Given the description of an element on the screen output the (x, y) to click on. 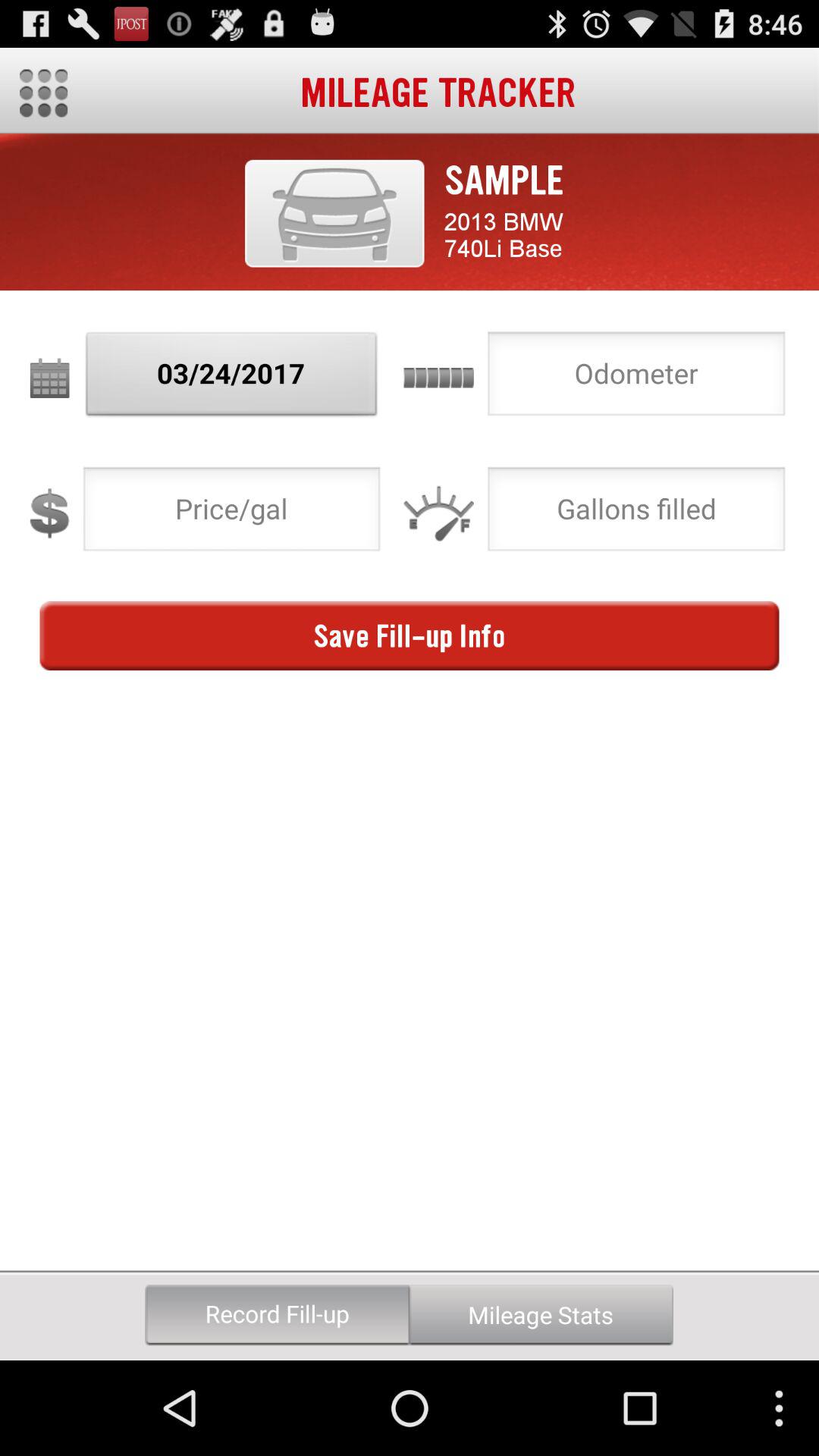
insert quantity (636, 513)
